Given the description of an element on the screen output the (x, y) to click on. 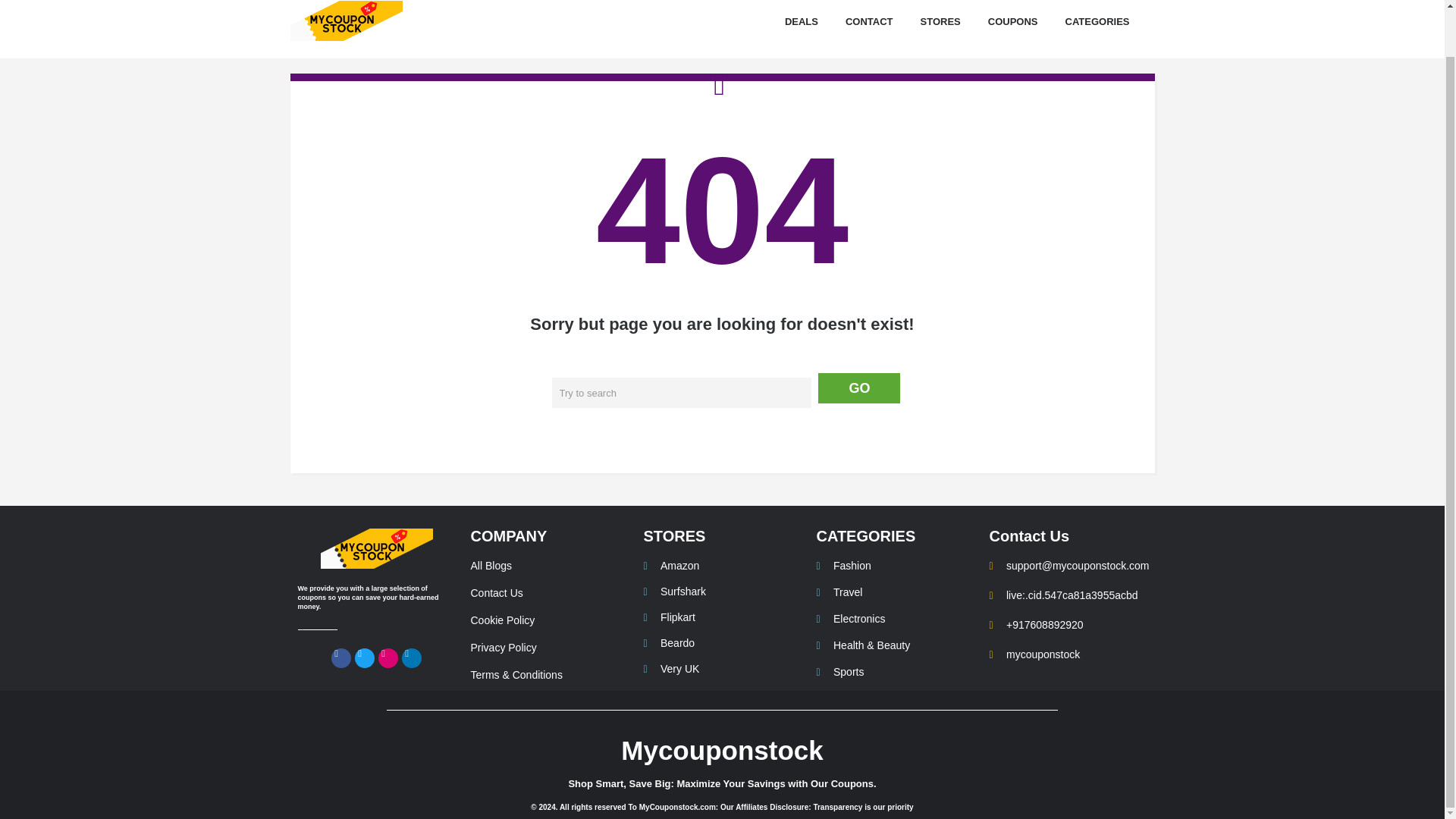
Surfshark (721, 591)
Categories (1097, 21)
All Blogs (548, 566)
CONTACT (869, 21)
Amazon (721, 566)
Fashion (894, 566)
DEALS (801, 21)
Contact (869, 21)
Very UK (721, 669)
Contact Us (548, 593)
Travel (894, 592)
Electronics (894, 619)
GO (858, 388)
Privacy Policy (548, 648)
STORES (940, 21)
